Given the description of an element on the screen output the (x, y) to click on. 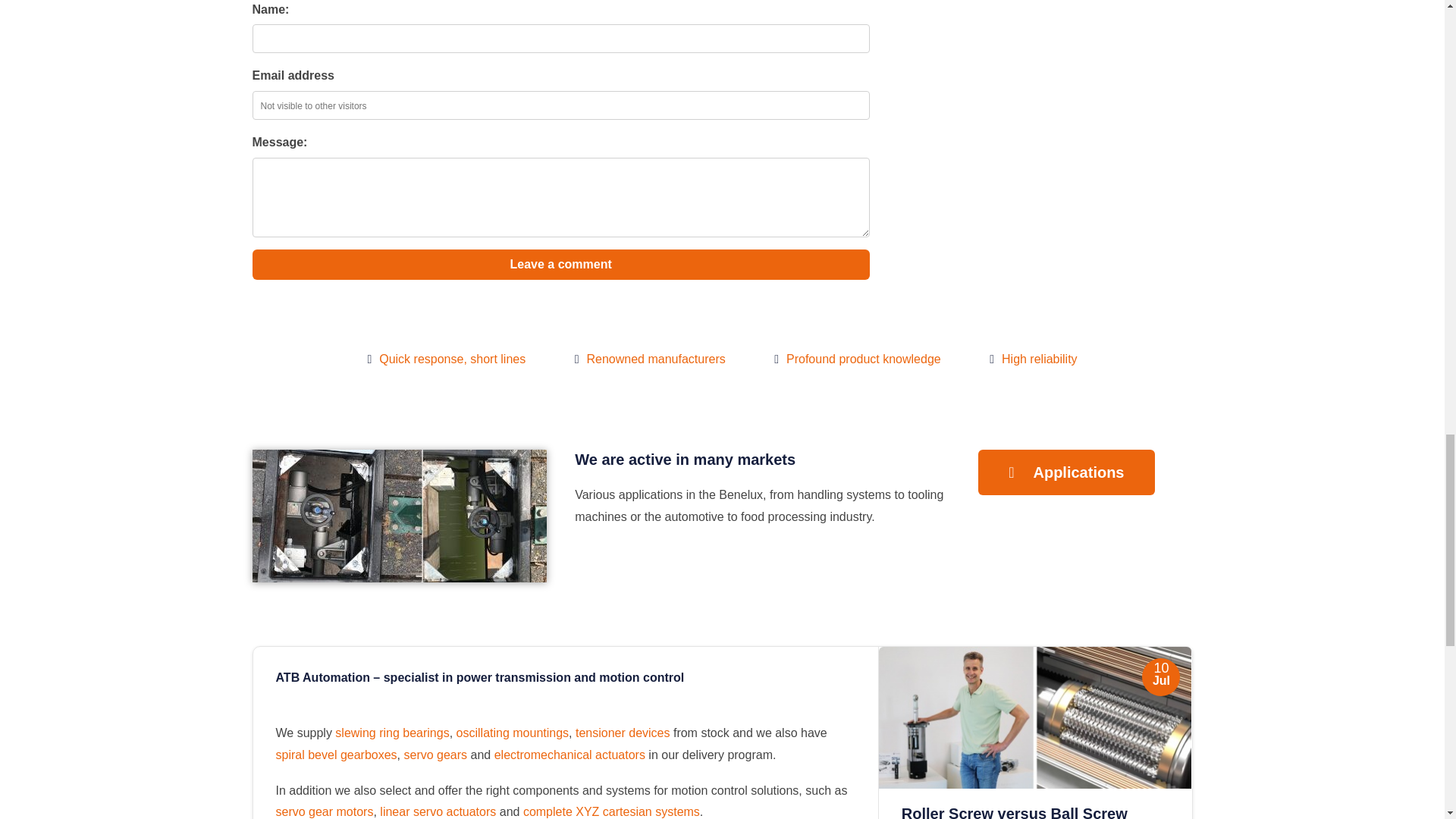
Reference (398, 577)
oscillating mountings (513, 732)
Reference (762, 488)
Leave a comment (560, 264)
slewing ring bearings (391, 732)
Leave a comment (560, 264)
Applications (1066, 472)
